Given the description of an element on the screen output the (x, y) to click on. 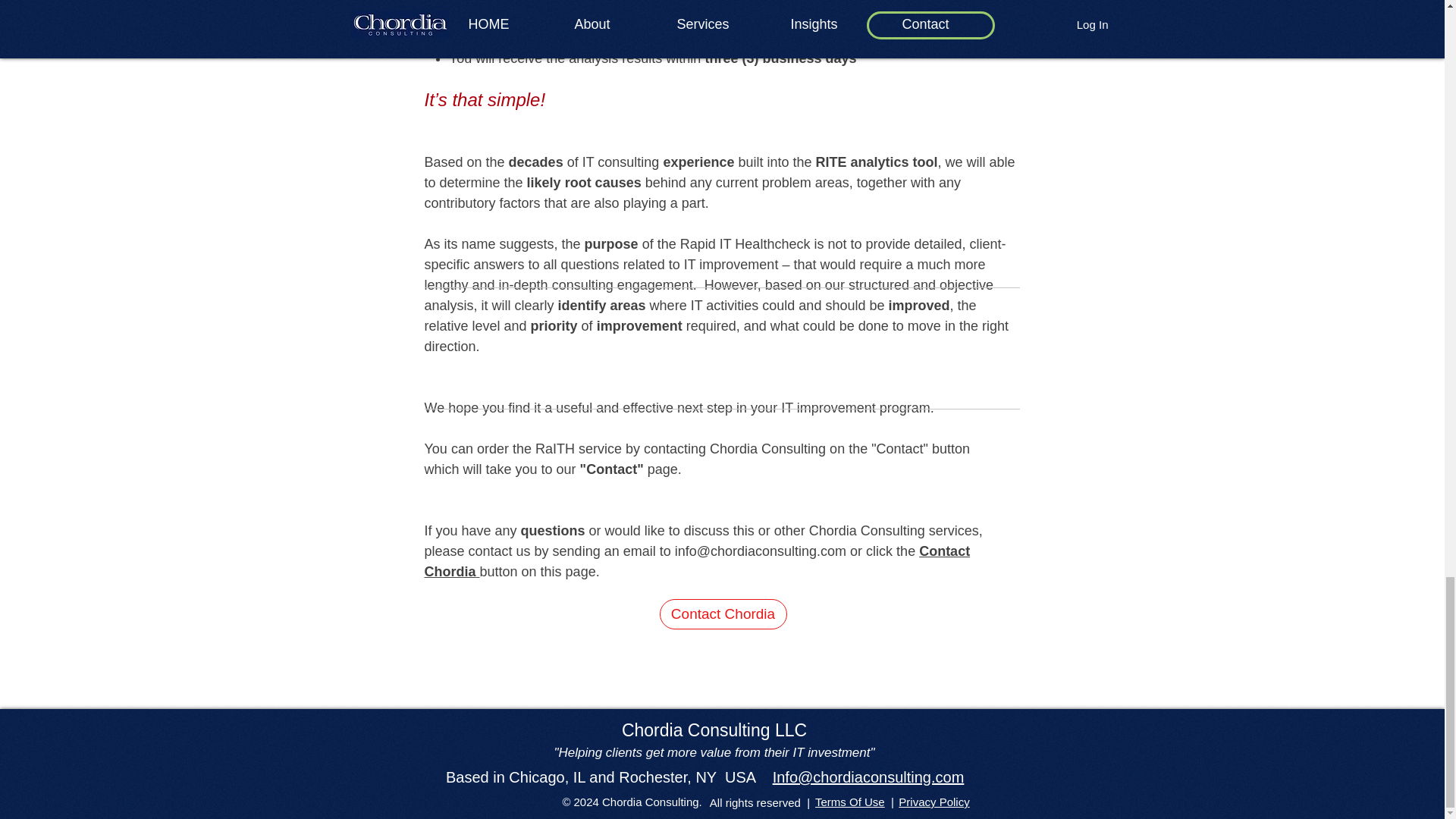
Privacy Policy (933, 801)
Contact Chordia (698, 561)
Contact Chordia (723, 613)
